Given the description of an element on the screen output the (x, y) to click on. 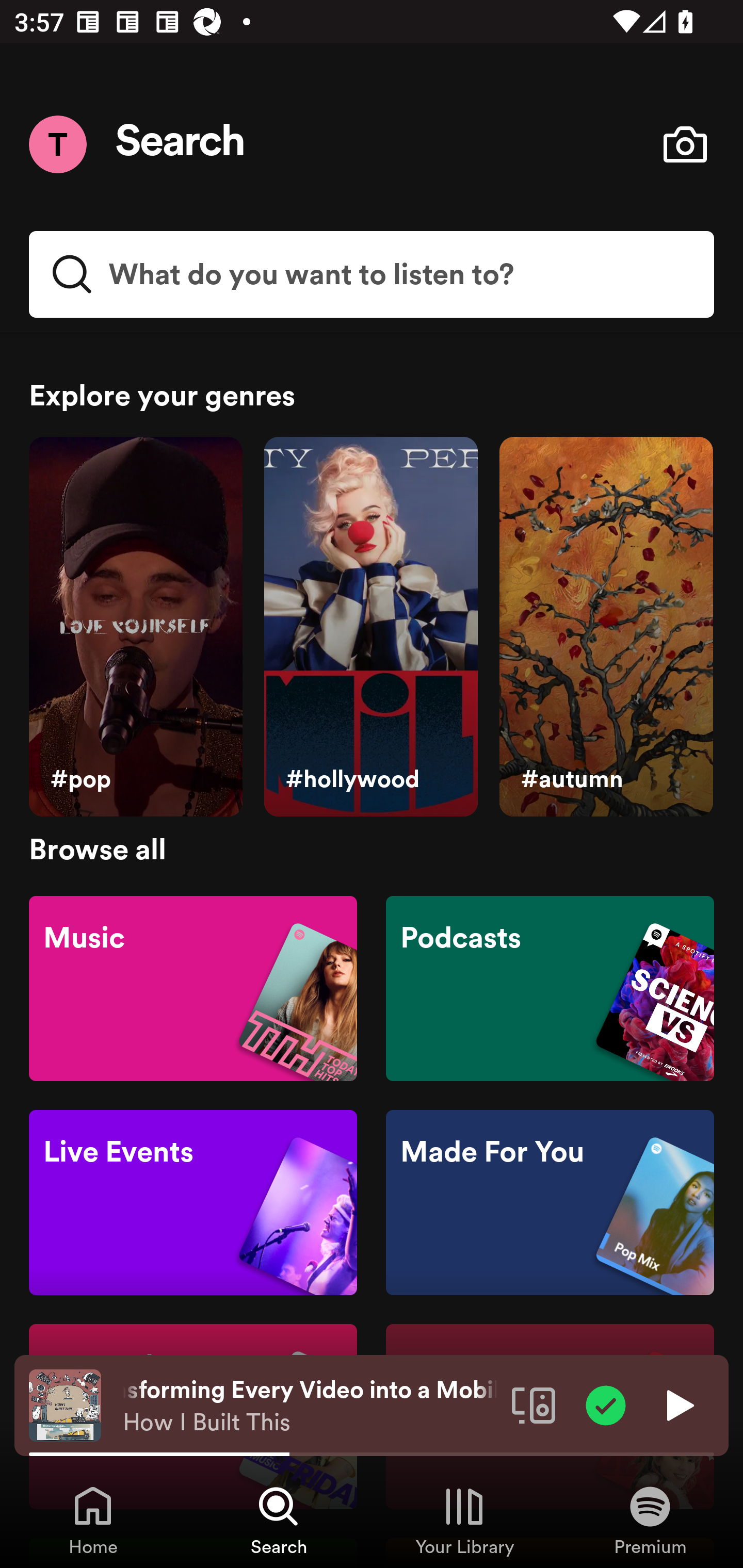
Menu (57, 144)
Open camera (685, 145)
Search (180, 144)
#pop (135, 626)
#hollywood (370, 626)
#autumn (606, 626)
Music (192, 987)
Podcasts (549, 987)
Live Events (192, 1202)
Made For You (549, 1202)
The cover art of the currently playing track (64, 1404)
Connect to a device. Opens the devices menu (533, 1404)
Item added (605, 1404)
Play (677, 1404)
Home, Tab 1 of 4 Home Home (92, 1519)
Search, Tab 2 of 4 Search Search (278, 1519)
Your Library, Tab 3 of 4 Your Library Your Library (464, 1519)
Premium, Tab 4 of 4 Premium Premium (650, 1519)
